Given the description of an element on the screen output the (x, y) to click on. 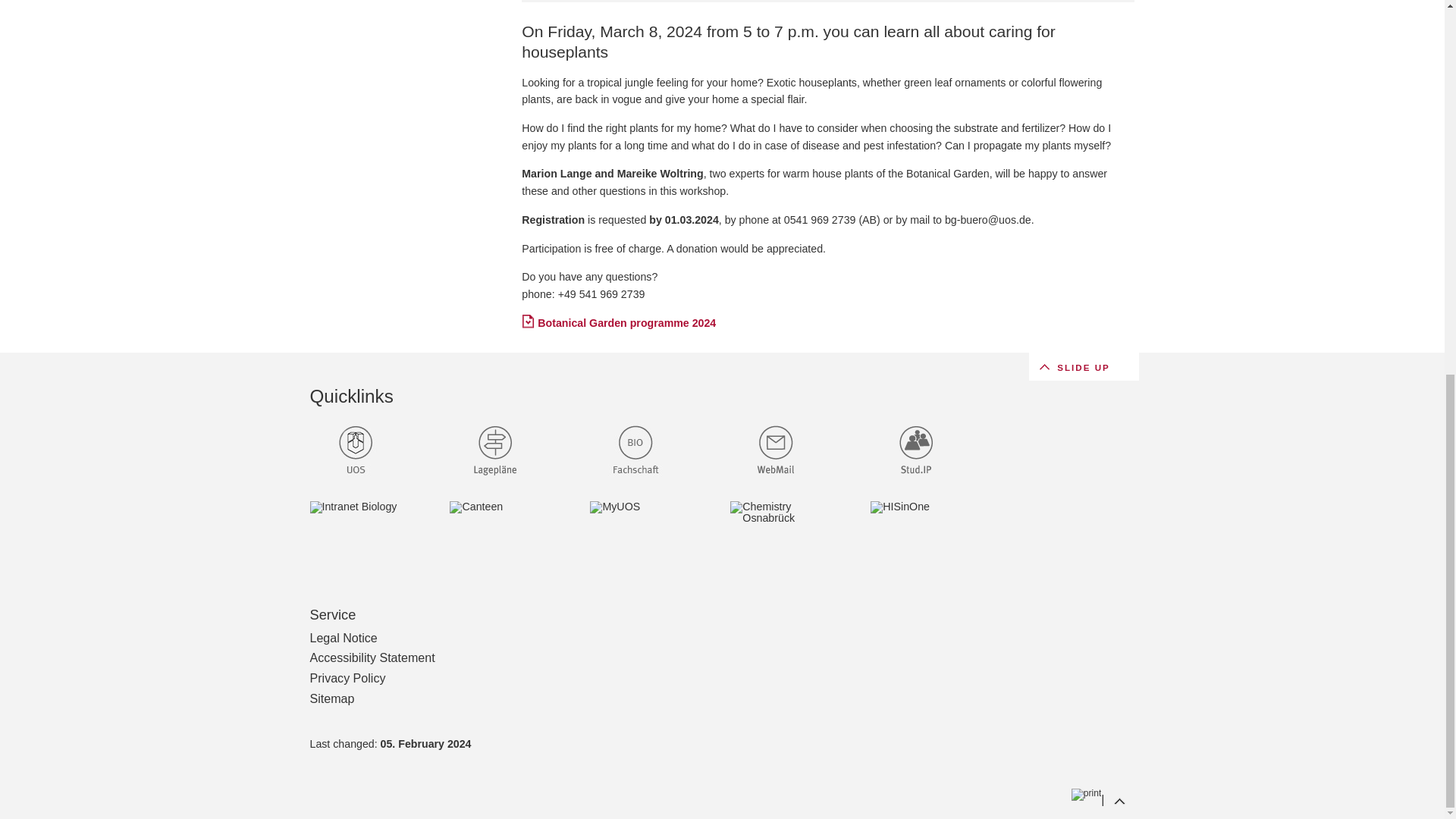
Stud.IP (915, 453)
Intranet Biology (354, 532)
UOs home (354, 453)
External Link - opens in new window (510, 532)
Canteen (494, 532)
External Link - opens in new window (369, 532)
Student representation Biology (635, 453)
Stud.IP (931, 453)
Site maps (494, 453)
External Link - opens in new window (369, 453)
